Given the description of an element on the screen output the (x, y) to click on. 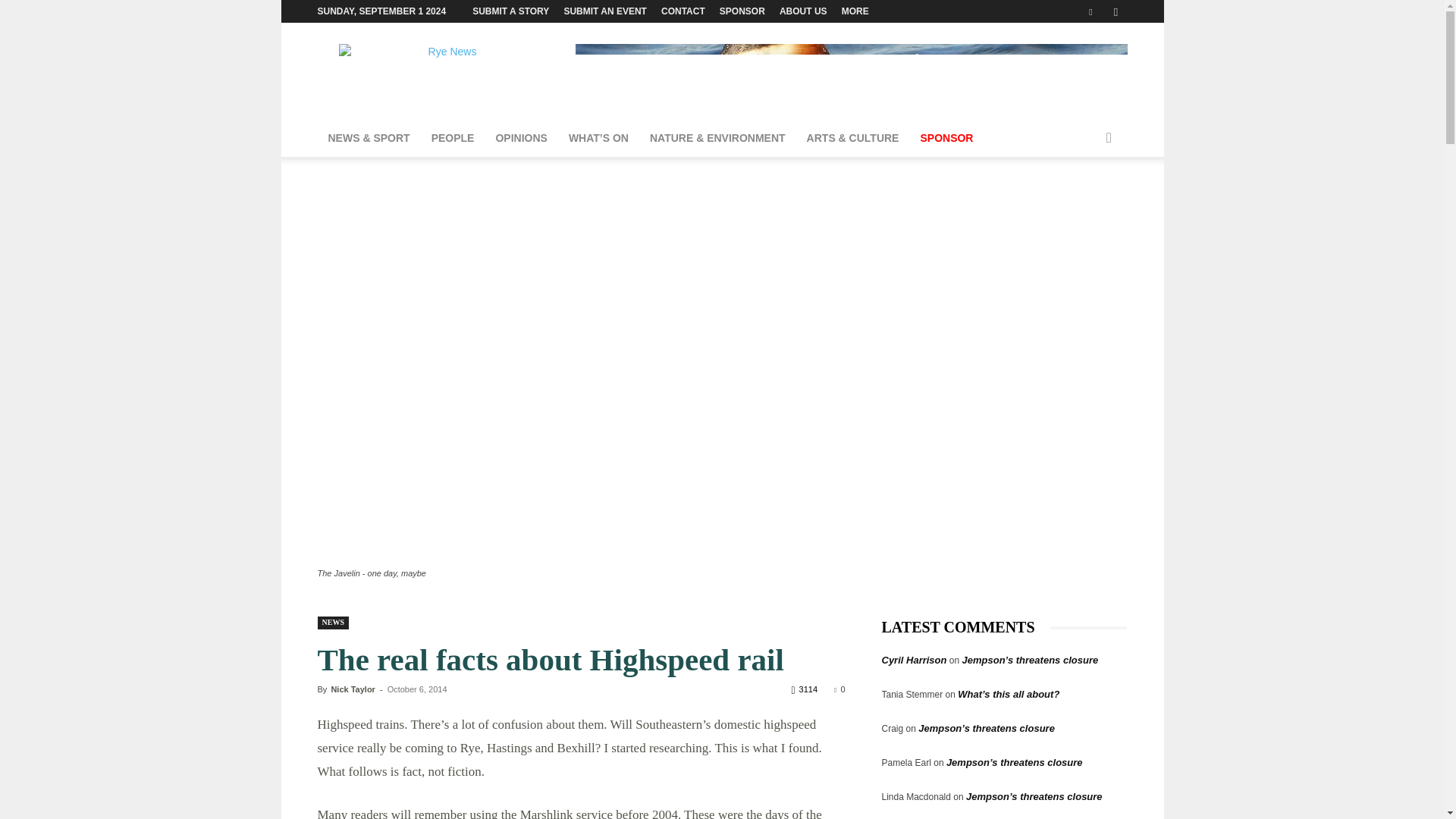
ABOUT US (802, 10)
SUBMIT AN EVENT (604, 10)
Instagram (1114, 11)
SUBMIT A STORY (509, 10)
CONTACT (682, 10)
Facebook (1090, 11)
SPONSOR (742, 10)
OPINIONS (520, 137)
PEOPLE (452, 137)
MORE (855, 10)
